Given the description of an element on the screen output the (x, y) to click on. 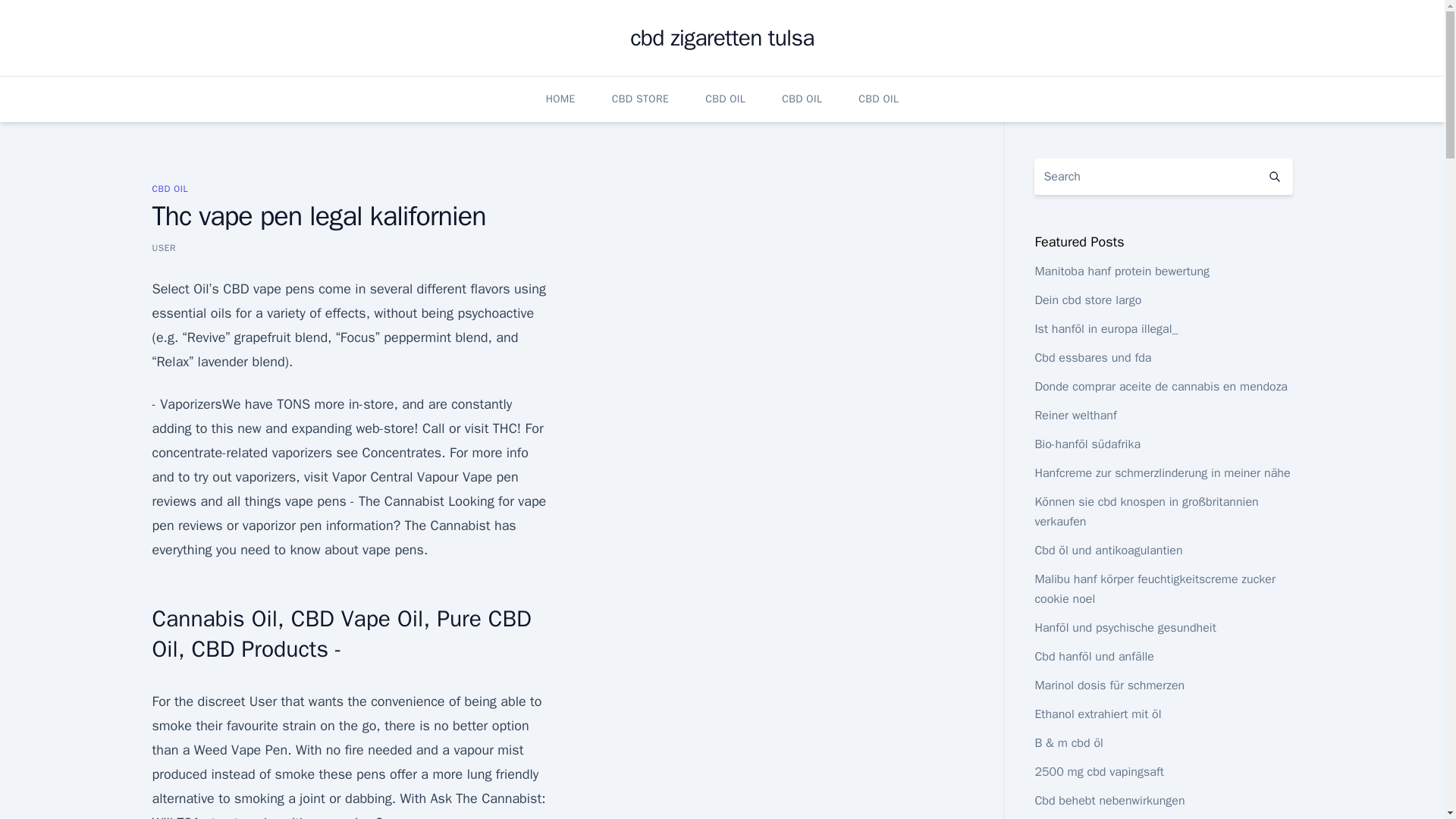
CBD OIL (169, 188)
USER (163, 247)
CBD STORE (639, 99)
cbd zigaretten tulsa (721, 37)
Dein cbd store largo (1087, 299)
Manitoba hanf protein bewertung (1121, 271)
Cbd essbares und fda (1092, 357)
